Given the description of an element on the screen output the (x, y) to click on. 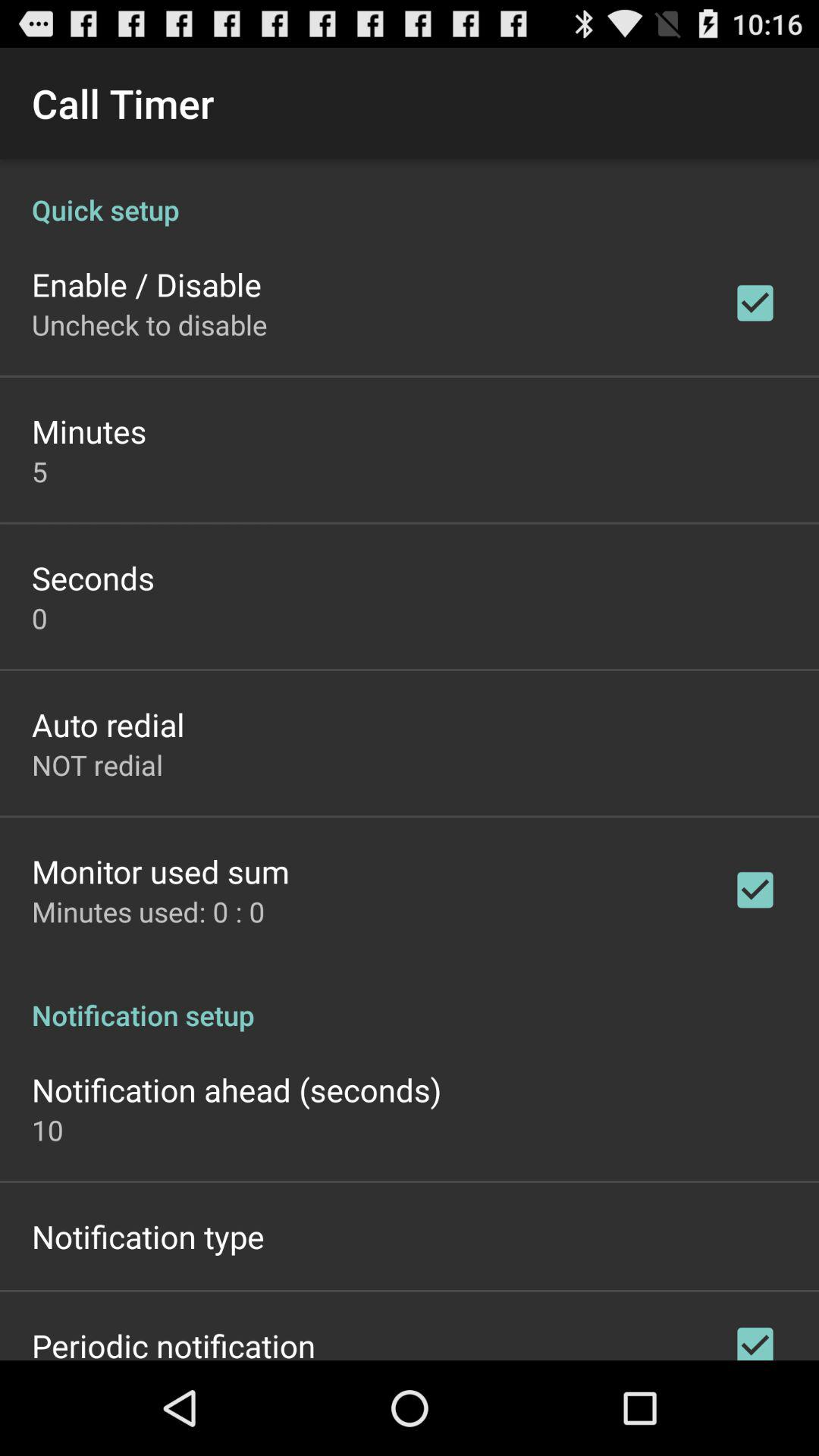
launch the app below the enable / disable item (149, 324)
